Given the description of an element on the screen output the (x, y) to click on. 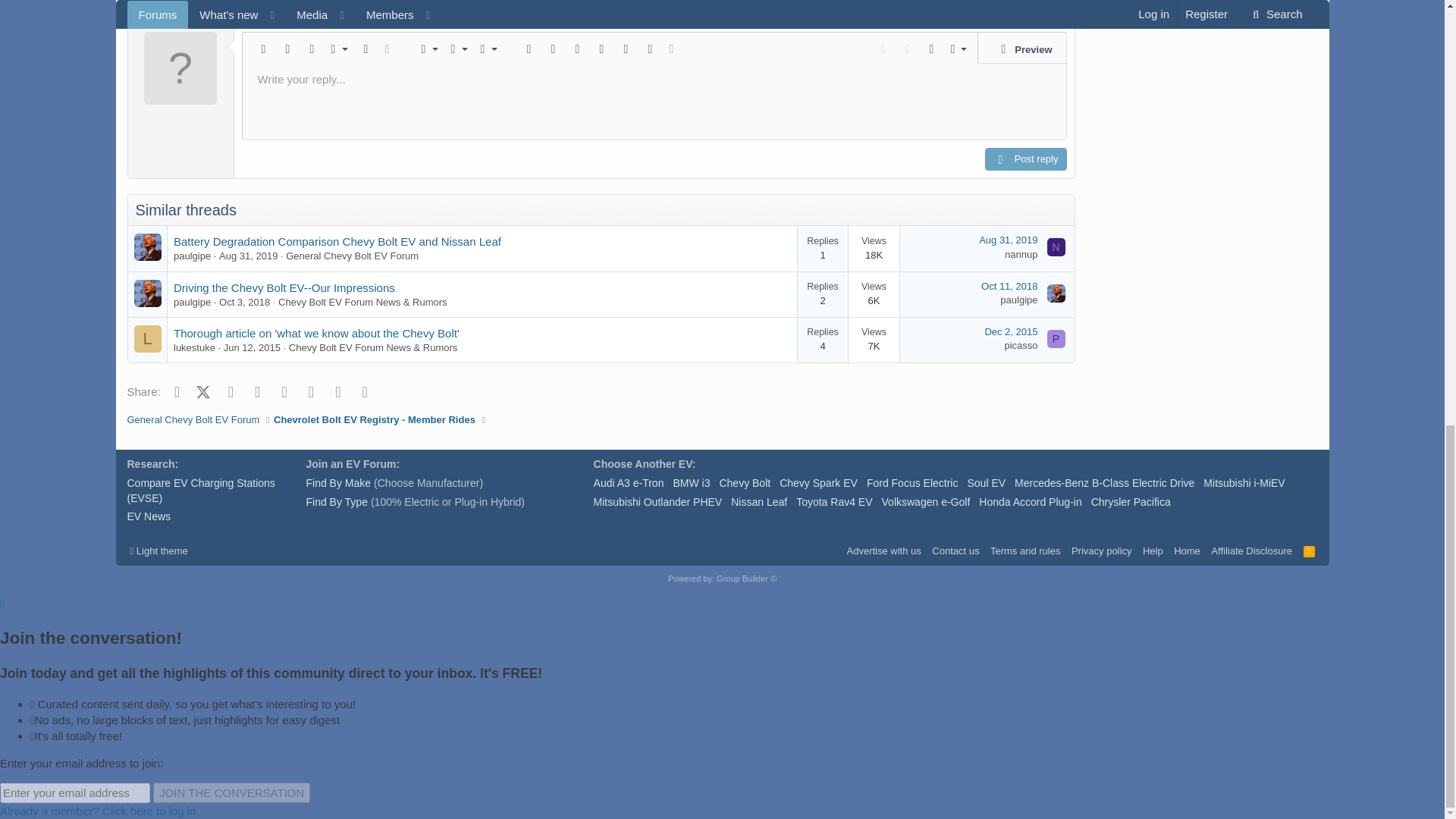
JOIN THE CONVERSATION (231, 792)
Remove formatting (263, 48)
Font size (335, 48)
